Given the description of an element on the screen output the (x, y) to click on. 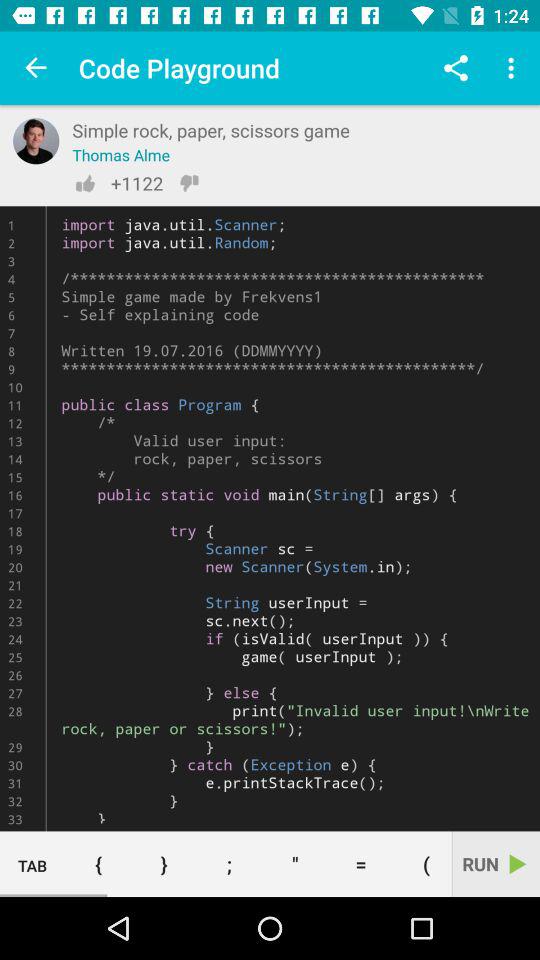
flip until the } button (163, 863)
